Given the description of an element on the screen output the (x, y) to click on. 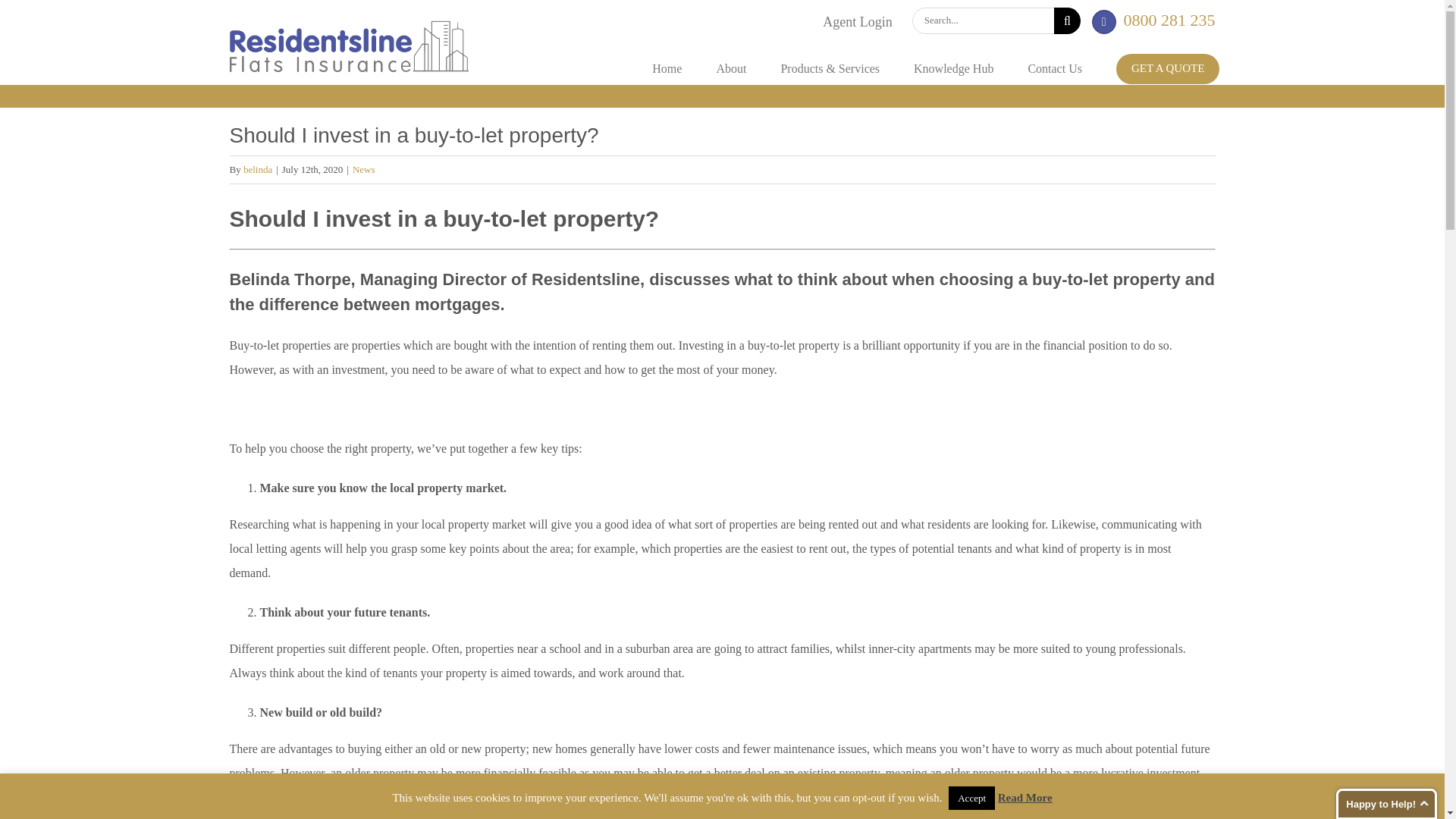
Knowledge Hub (953, 69)
About (730, 69)
Posts by belinda (257, 169)
Agent Login (857, 22)
Home (666, 69)
0800 281 235 (1169, 20)
